Given the description of an element on the screen output the (x, y) to click on. 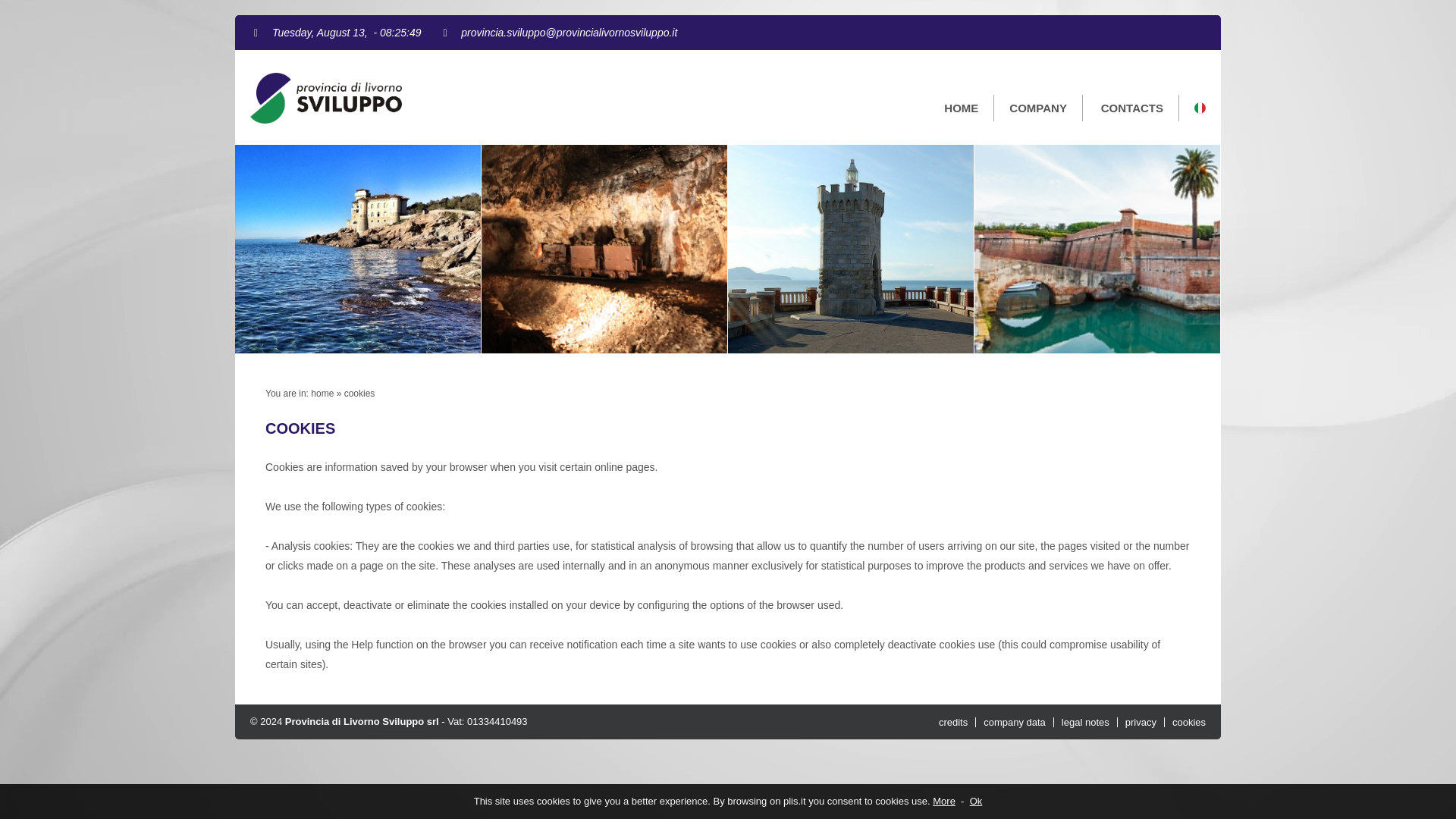
Home (322, 393)
Company (1038, 108)
Cookies (359, 393)
home (322, 393)
cookies (359, 393)
Provincia di Livorno Sviluppo (325, 119)
Contacts (1132, 108)
HOME (961, 108)
Italian (1192, 107)
COMPANY (1038, 108)
